Given the description of an element on the screen output the (x, y) to click on. 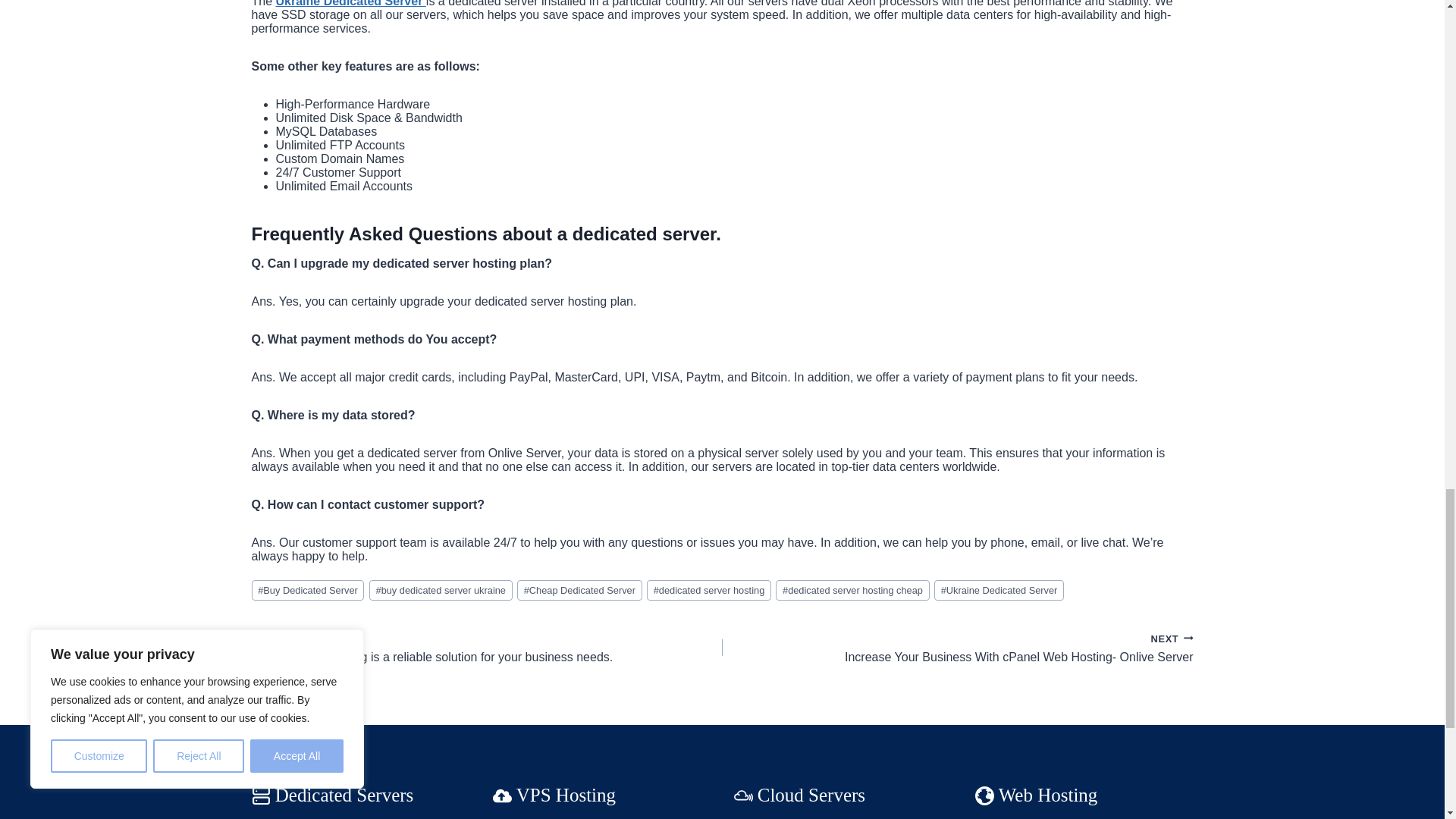
Buy Dedicated Server (308, 589)
dedicated server hosting (708, 589)
Cheap Dedicated Server (579, 589)
Ukraine Dedicated Server (999, 589)
buy dedicated server ukraine (440, 589)
dedicated server hosting cheap (852, 589)
